Given the description of an element on the screen output the (x, y) to click on. 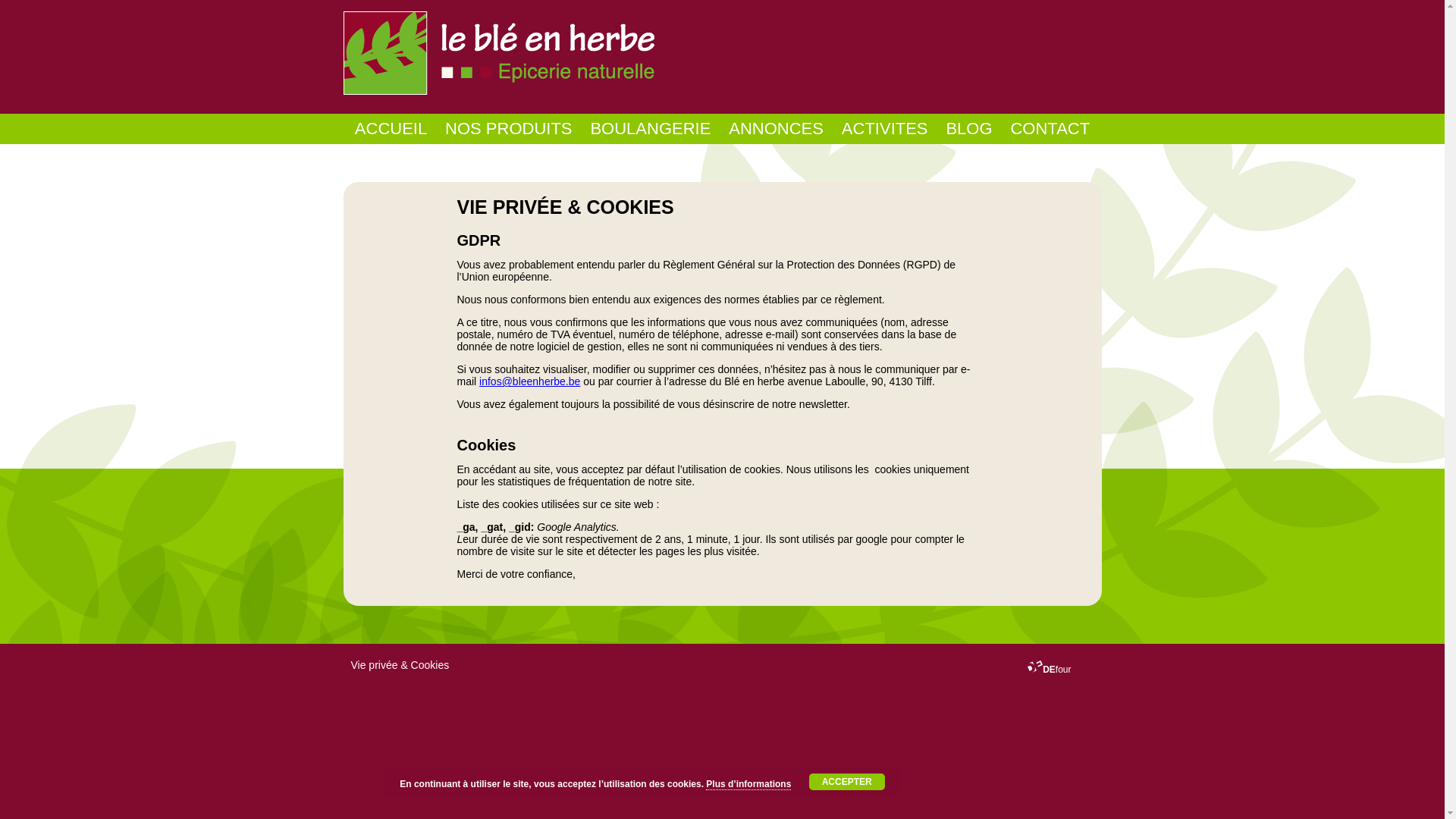
CONTACT Element type: text (1049, 128)
DEfour Element type: text (1048, 669)
NOS PRODUITS Element type: text (508, 128)
ACCUEIL Element type: text (390, 128)
ACTIVITES Element type: text (884, 128)
infos@bleenherbe.be Element type: text (529, 381)
ANNONCES Element type: text (775, 128)
BOULANGERIE Element type: text (649, 128)
ACCEPTER Element type: text (846, 781)
BLOG Element type: text (968, 128)
